Given the description of an element on the screen output the (x, y) to click on. 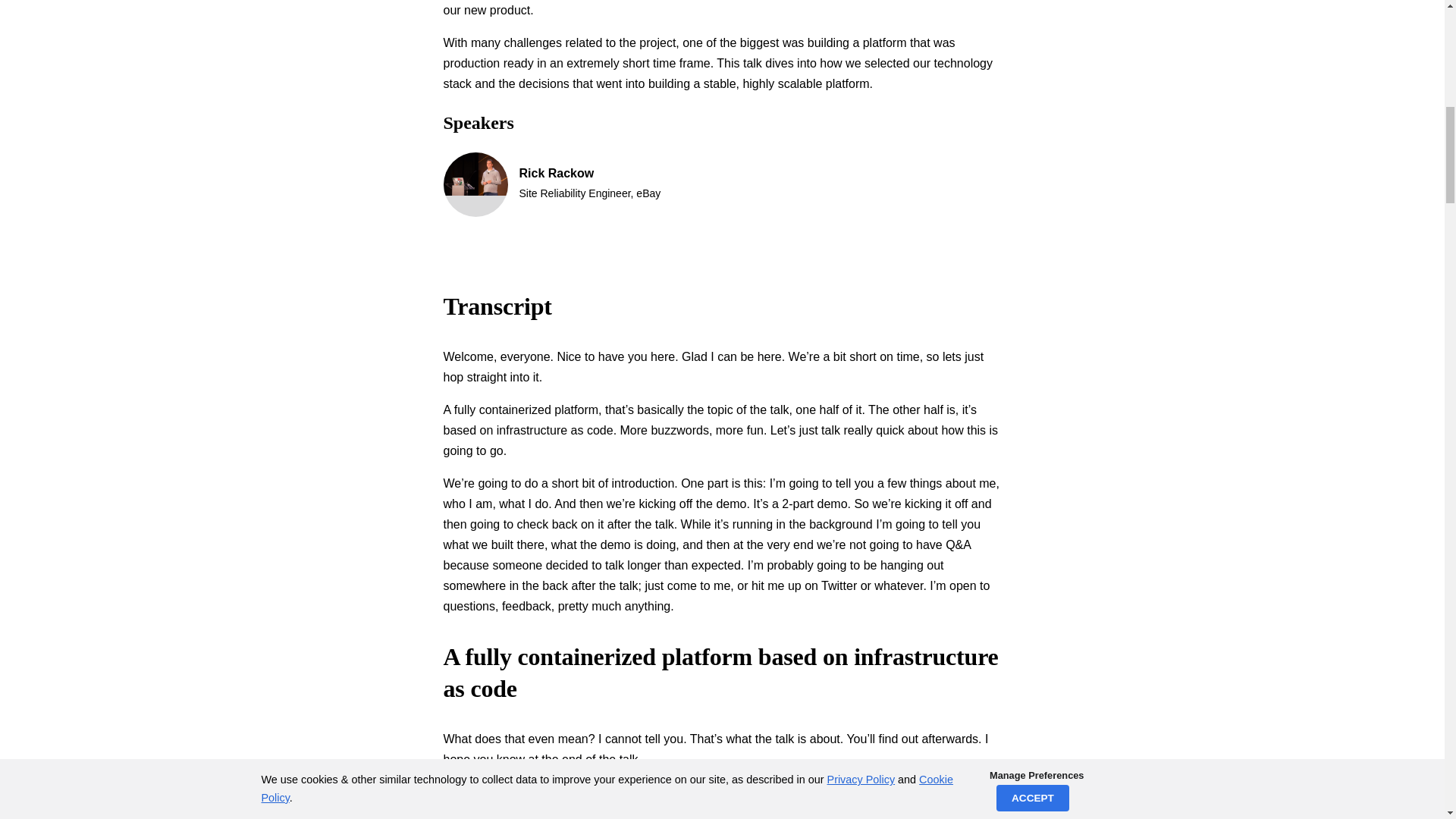
github icon (527, 220)
twitter-x icon (557, 220)
